Given the description of an element on the screen output the (x, y) to click on. 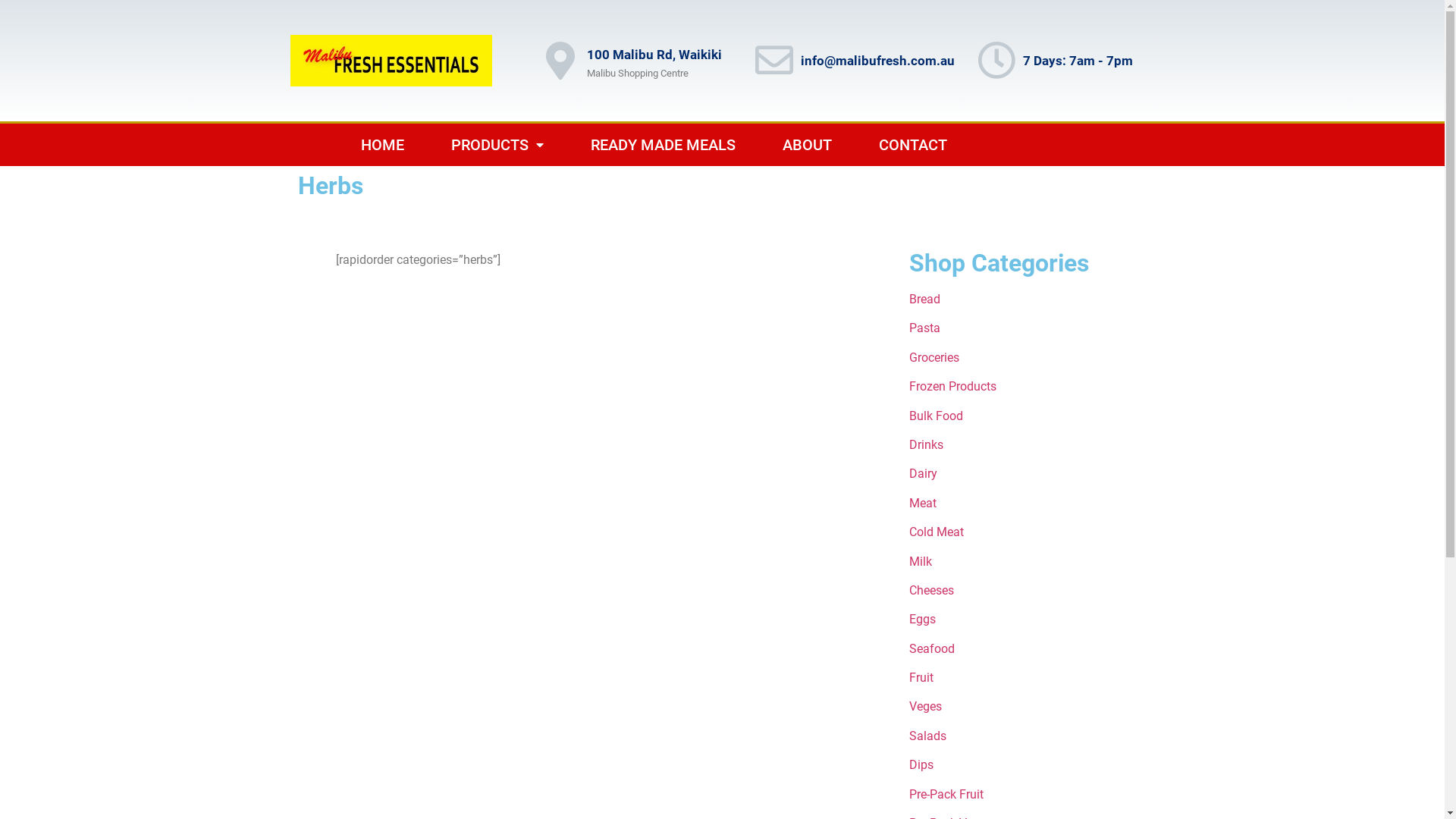
Veges Element type: text (925, 706)
Bread Element type: text (924, 298)
Cold Meat Element type: text (936, 531)
Meat Element type: text (922, 502)
Fruit Element type: text (921, 677)
ABOUT Element type: text (807, 144)
Pre-Pack Fruit Element type: text (946, 794)
Eggs Element type: text (922, 618)
Dairy Element type: text (923, 473)
Dips Element type: text (921, 764)
PRODUCTS Element type: text (497, 144)
Salads Element type: text (927, 735)
Bulk Food Element type: text (936, 415)
Frozen Products Element type: text (952, 386)
Cheeses Element type: text (931, 590)
Pasta Element type: text (924, 327)
Groceries Element type: text (934, 357)
Milk Element type: text (920, 561)
Drinks Element type: text (926, 444)
Seafood Element type: text (931, 648)
HOME Element type: text (382, 144)
CONTACT Element type: text (912, 144)
READY MADE MEALS Element type: text (663, 144)
